Given the description of an element on the screen output the (x, y) to click on. 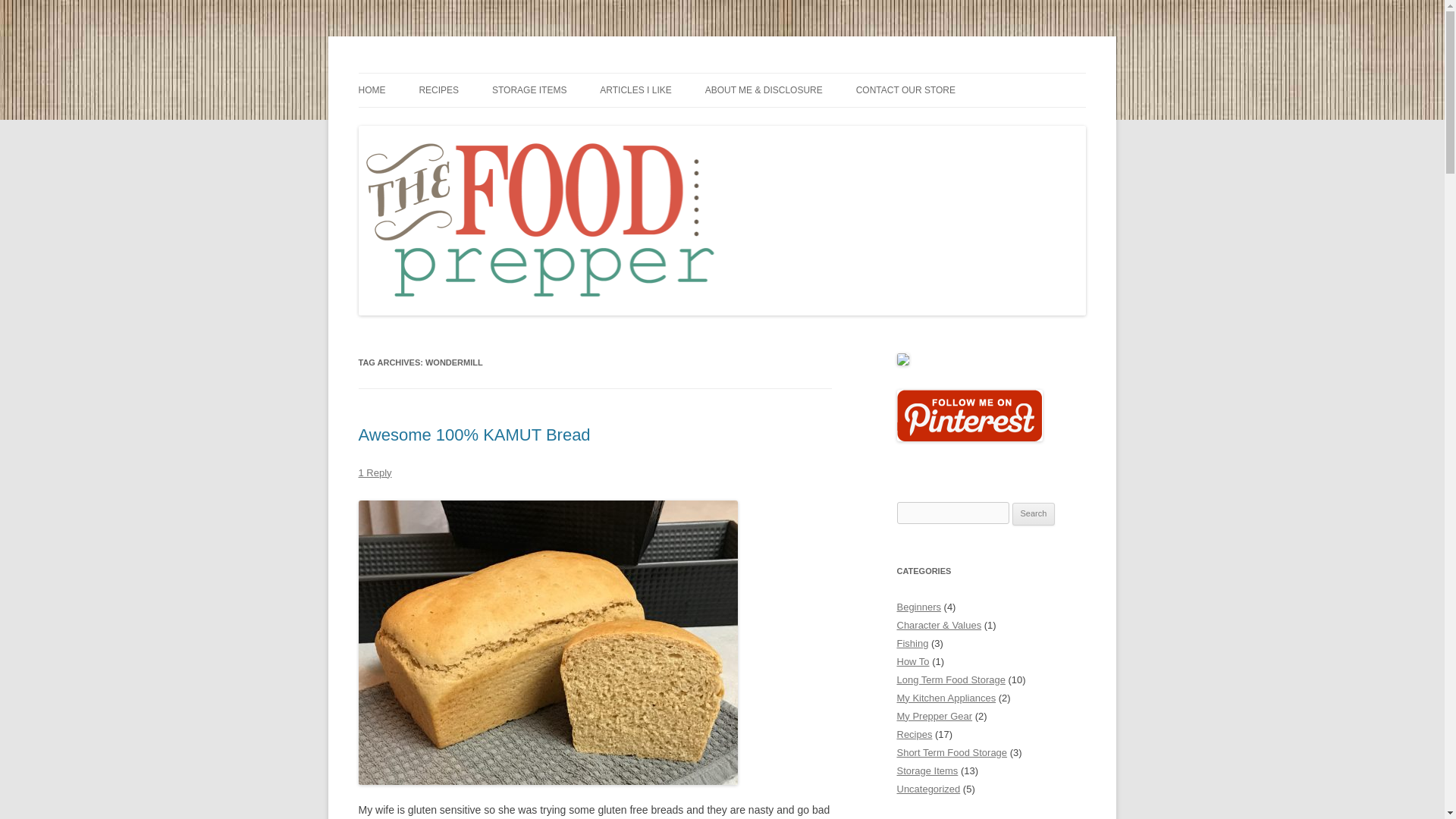
1 Reply (374, 472)
Food Prepper (422, 72)
Search (1033, 513)
ARTICLES I LIKE (635, 90)
CONTACT OUR STORE (905, 90)
STORAGE ITEMS (529, 90)
Food Prepper (422, 72)
RECIPES (438, 90)
